Given the description of an element on the screen output the (x, y) to click on. 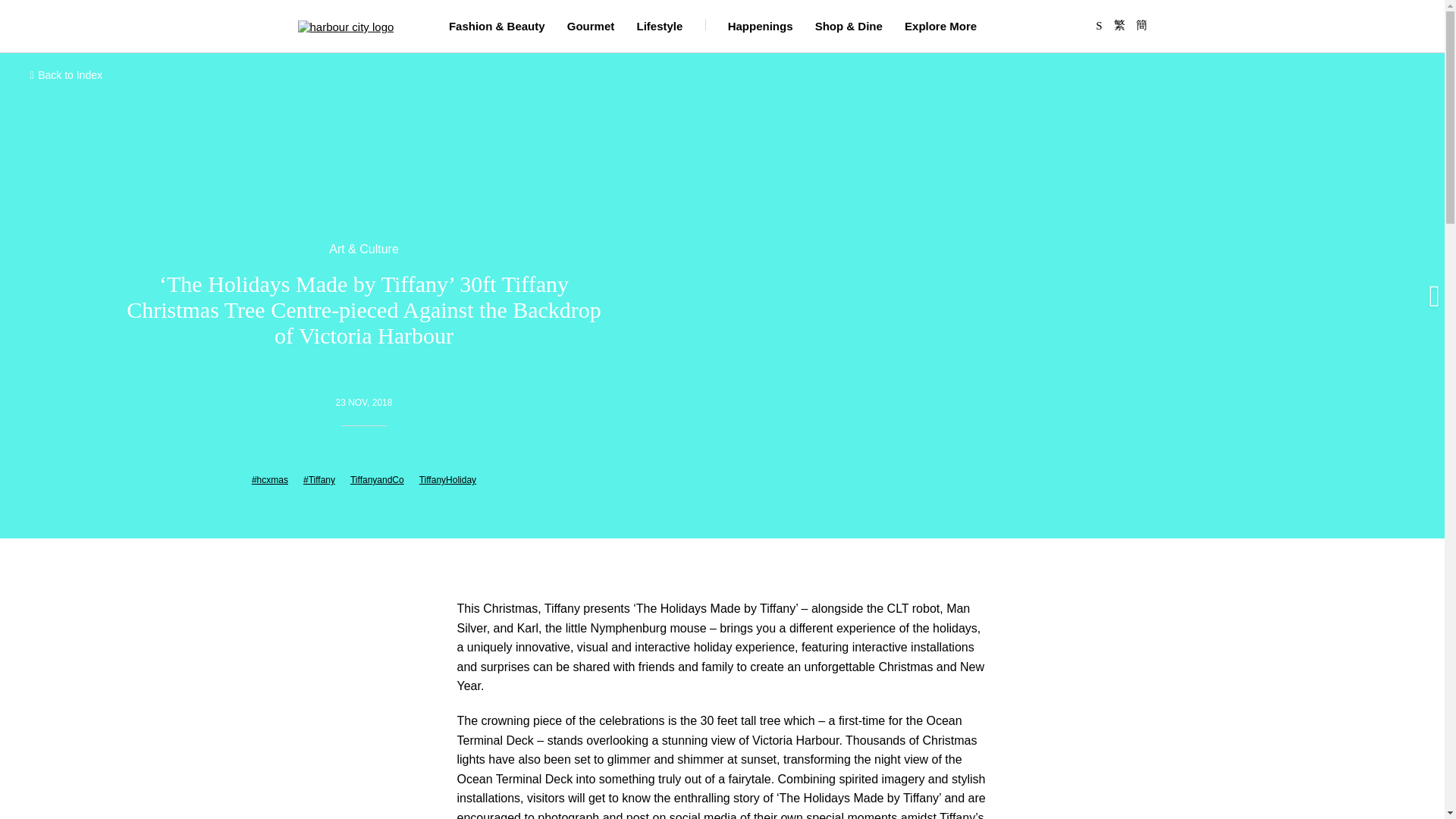
Lifestyle (659, 25)
Explore More (940, 25)
Gourmet (590, 25)
Happenings (760, 25)
